Given the description of an element on the screen output the (x, y) to click on. 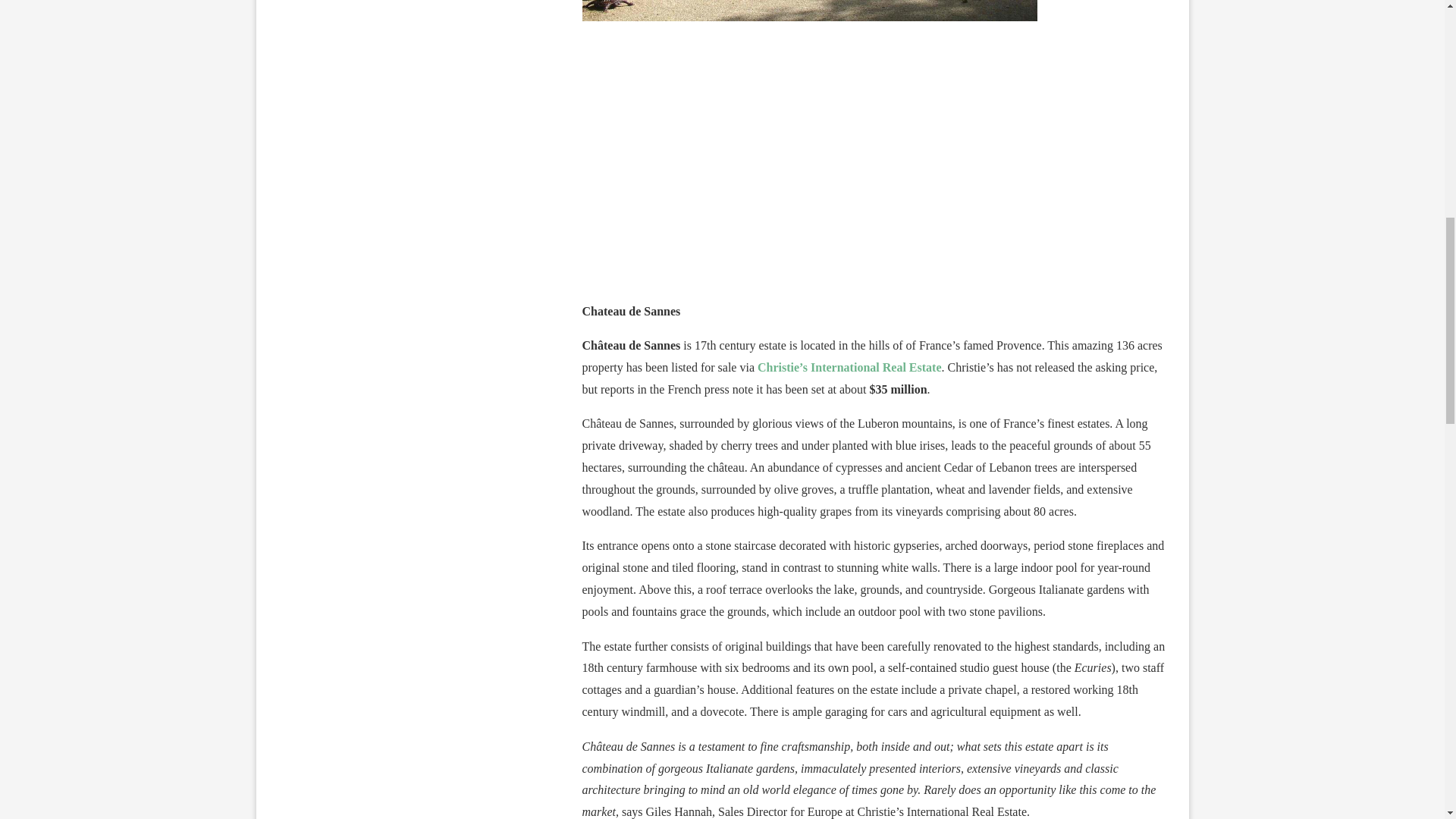
Chateau de Sannes (809, 10)
Chateau de Sannes (874, 161)
